Given the description of an element on the screen output the (x, y) to click on. 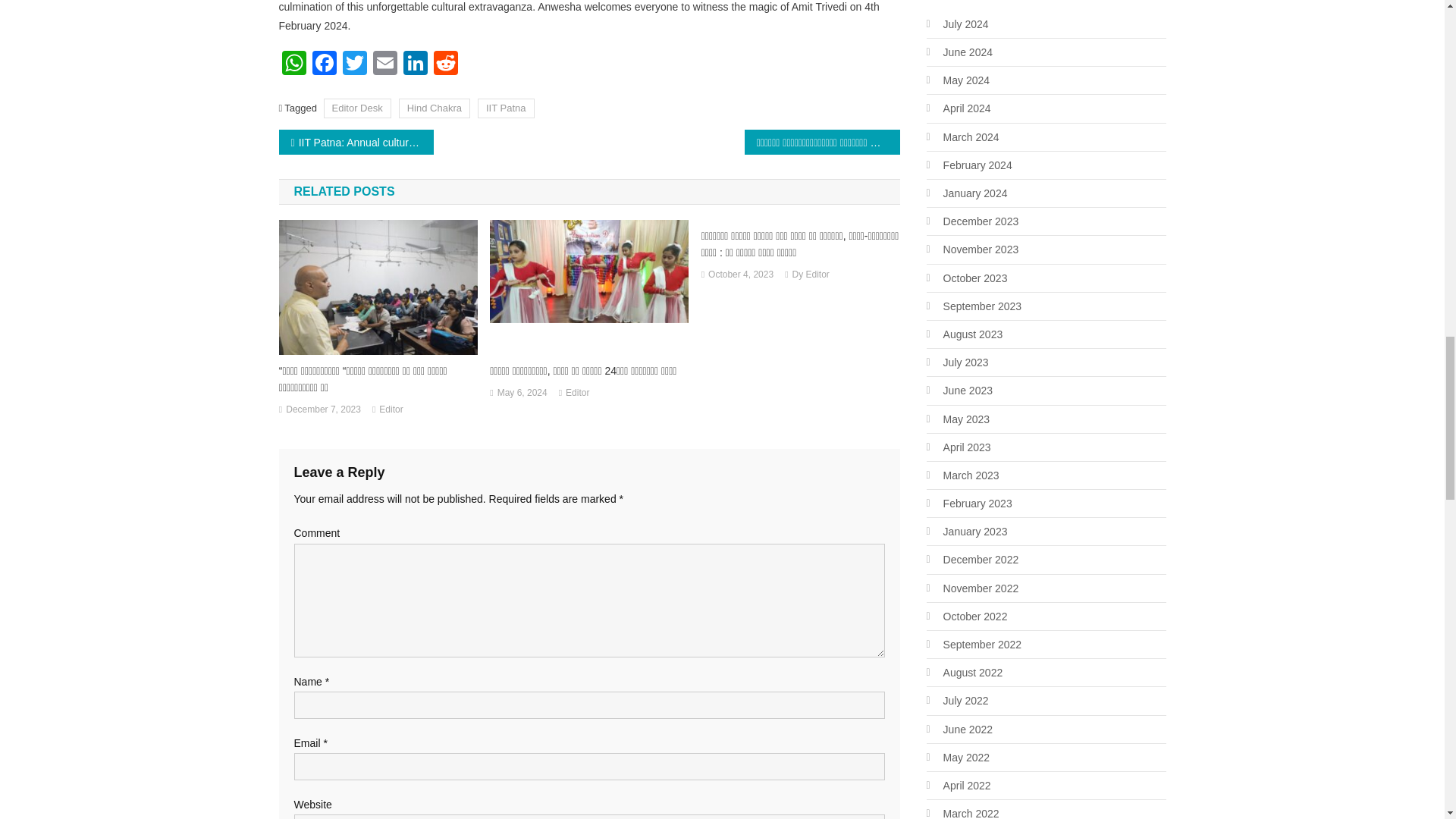
Facebook (323, 64)
Reddit (445, 64)
Twitter (354, 64)
Editor (577, 393)
Editor Desk (357, 107)
LinkedIn (415, 64)
Twitter (354, 64)
Facebook (323, 64)
IIT Patna (505, 107)
WhatsApp (293, 64)
